Given the description of an element on the screen output the (x, y) to click on. 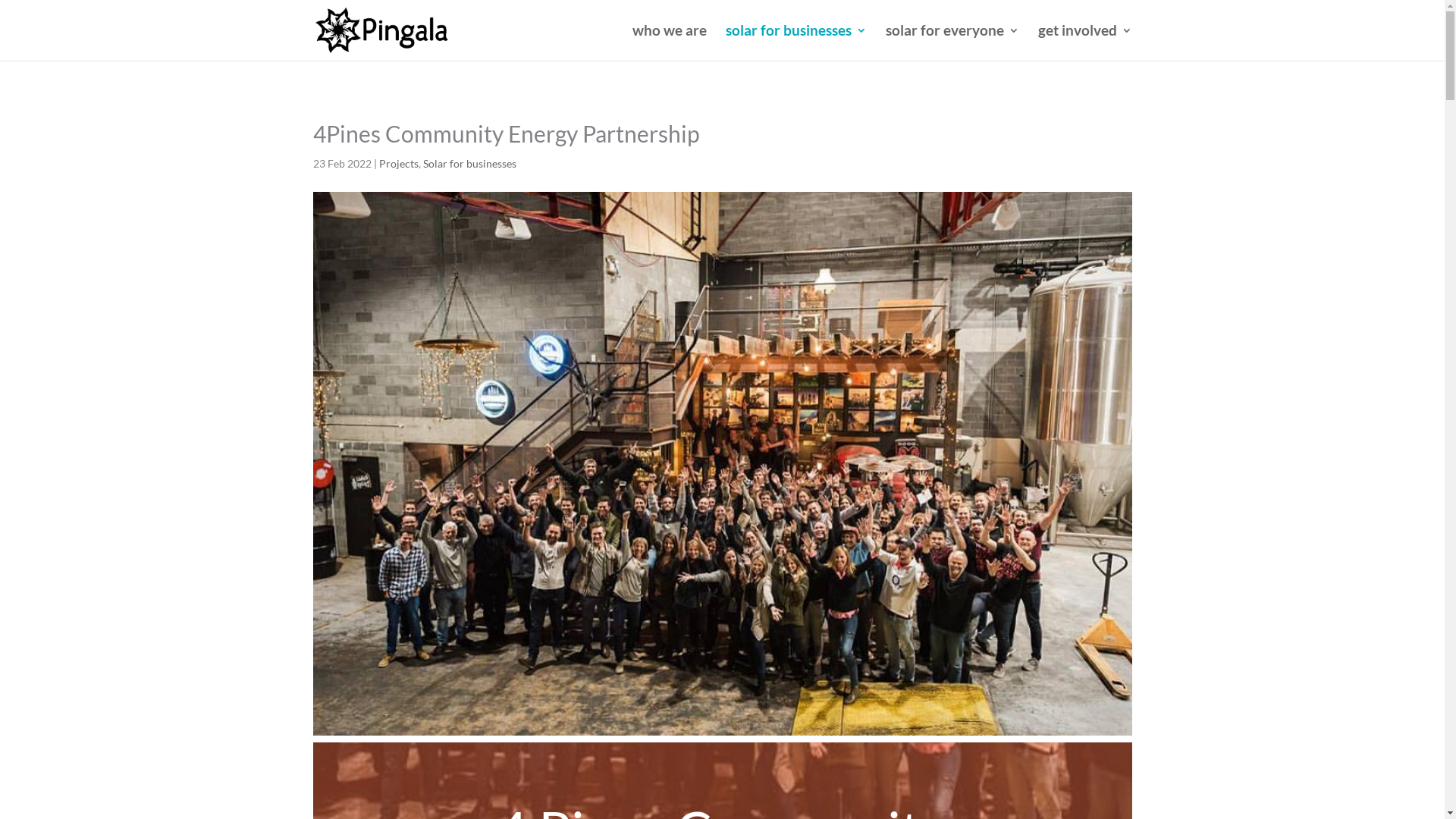
solar for businesses Element type: text (795, 42)
Projects Element type: text (398, 162)
get involved Element type: text (1084, 42)
solar for everyone Element type: text (952, 42)
who we are Element type: text (669, 42)
Solar for businesses Element type: text (469, 162)
